Given the description of an element on the screen output the (x, y) to click on. 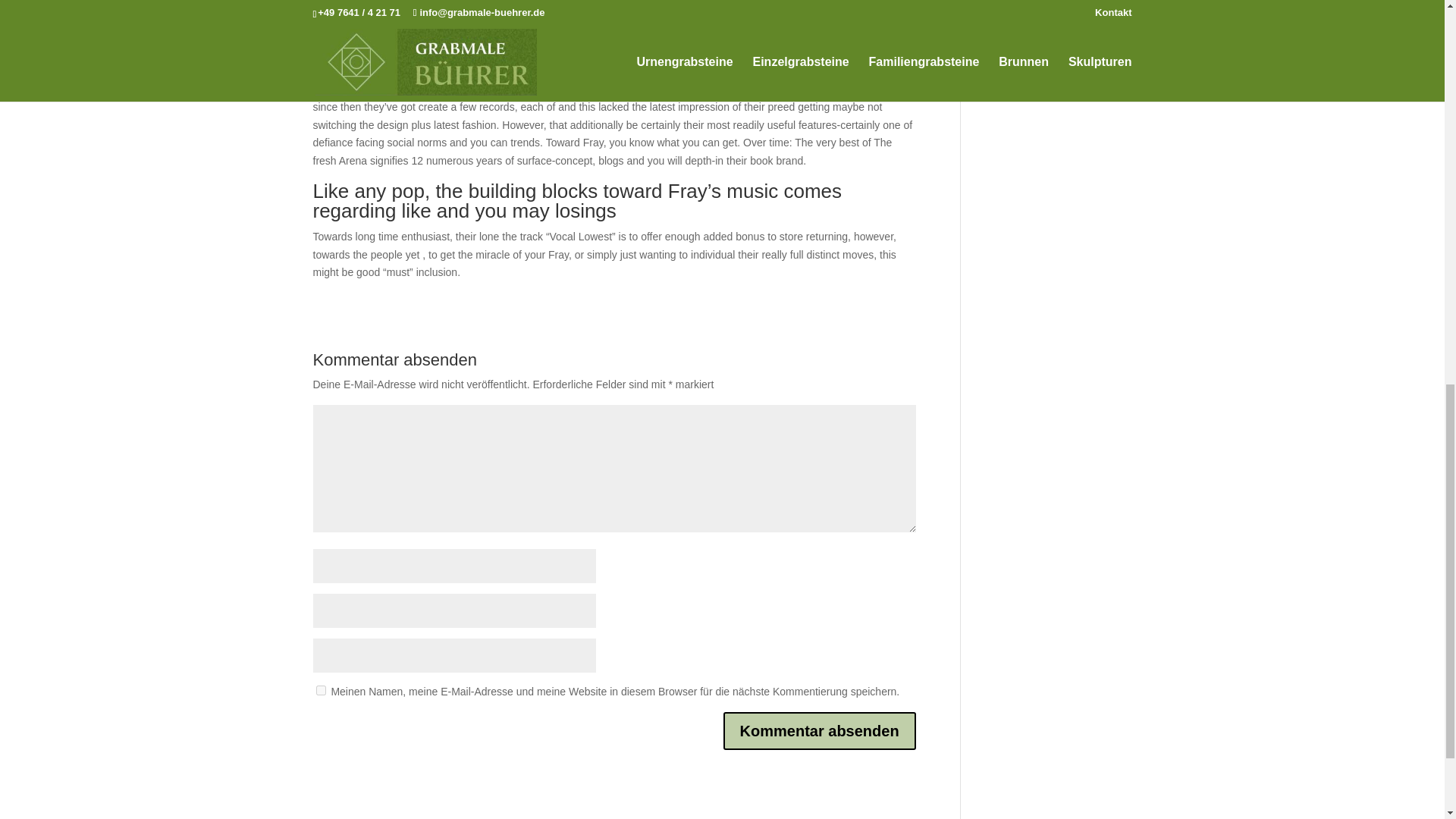
Kommentar absenden (819, 730)
Kommentar absenden (819, 730)
yes (319, 690)
